Given the description of an element on the screen output the (x, y) to click on. 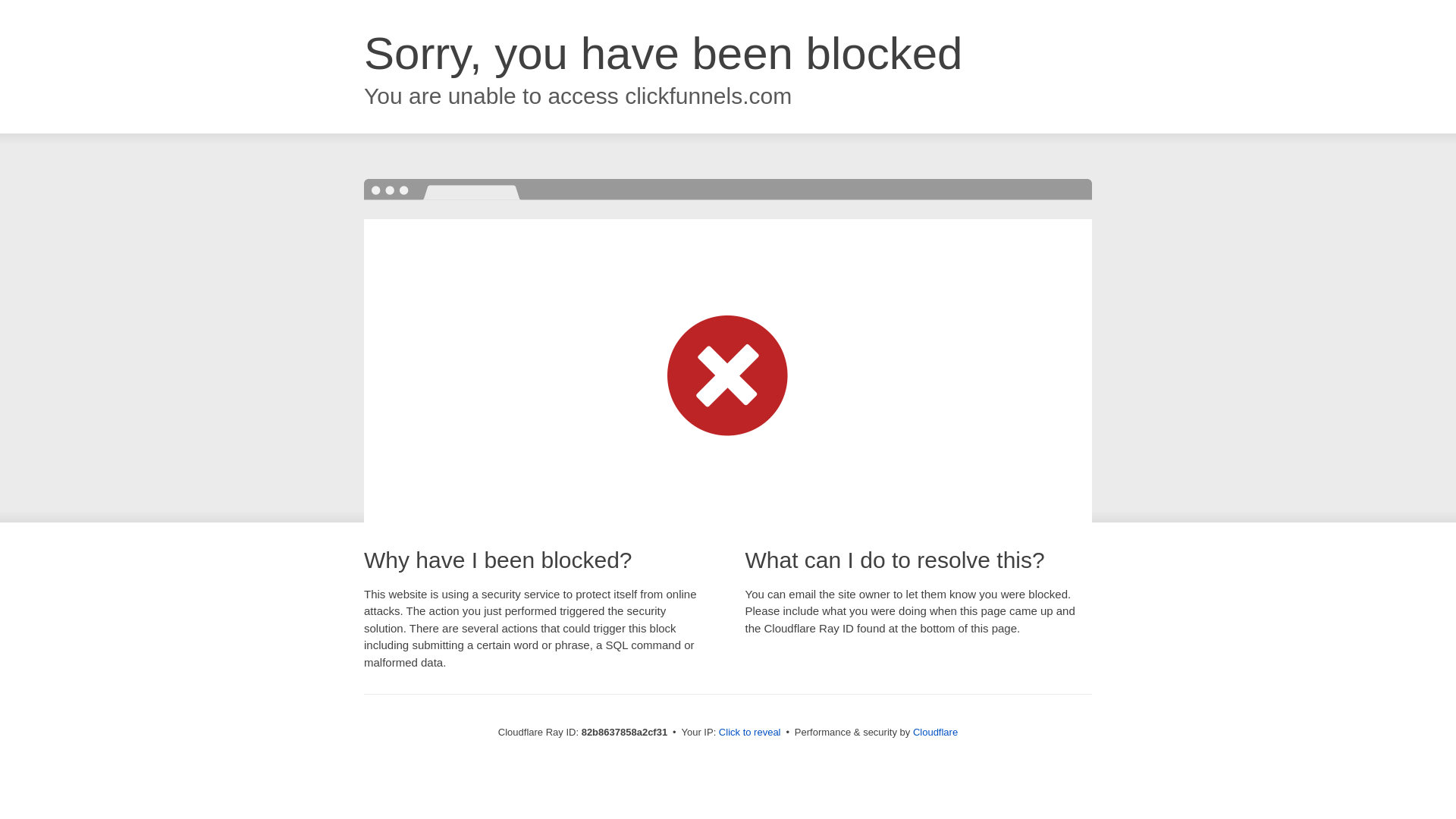
Click to reveal Element type: text (749, 732)
Cloudflare Element type: text (935, 731)
